Given the description of an element on the screen output the (x, y) to click on. 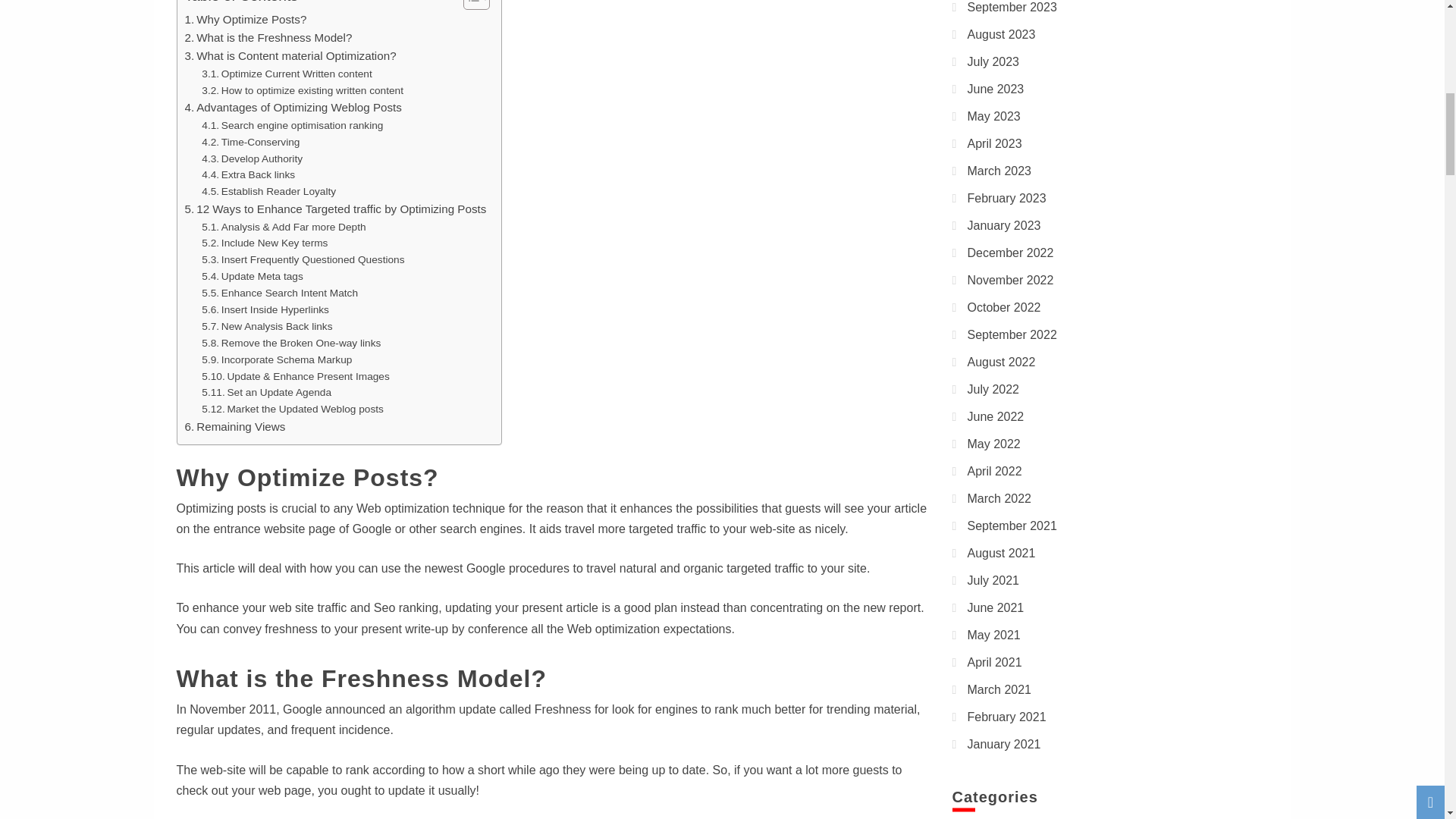
How to optimize existing written content (302, 90)
What is Content material Optimization? (290, 55)
Establish Reader Loyalty (269, 191)
How to optimize existing written content (302, 90)
Why Optimize Posts? (245, 19)
Develop Authority (252, 158)
What is the Freshness Model? (268, 37)
Include New Key terms (264, 243)
Establish Reader Loyalty (269, 191)
Search engine optimisation ranking (292, 125)
